Given the description of an element on the screen output the (x, y) to click on. 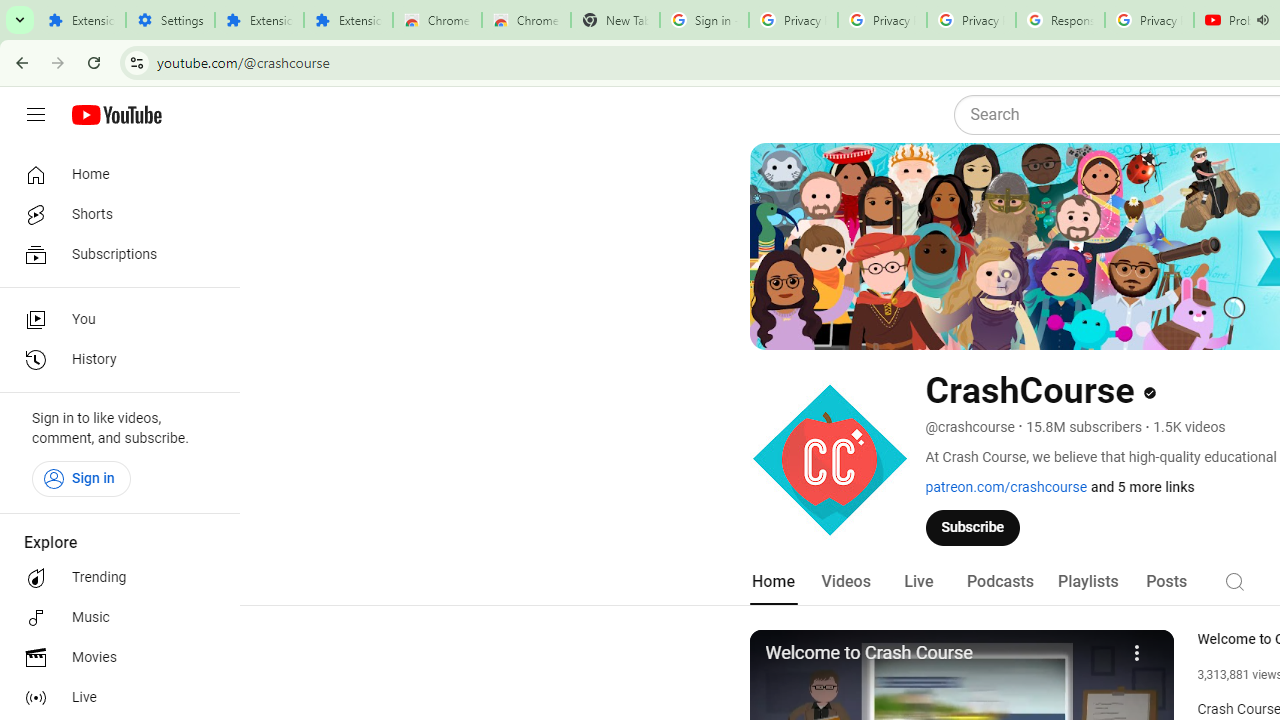
Home (772, 581)
and 5 more links (1142, 487)
Subscribe (973, 527)
Sign in - Google Accounts (704, 20)
Guide (35, 115)
Movies (113, 657)
Chrome Web Store (437, 20)
Playlists (1088, 581)
